Given the description of an element on the screen output the (x, y) to click on. 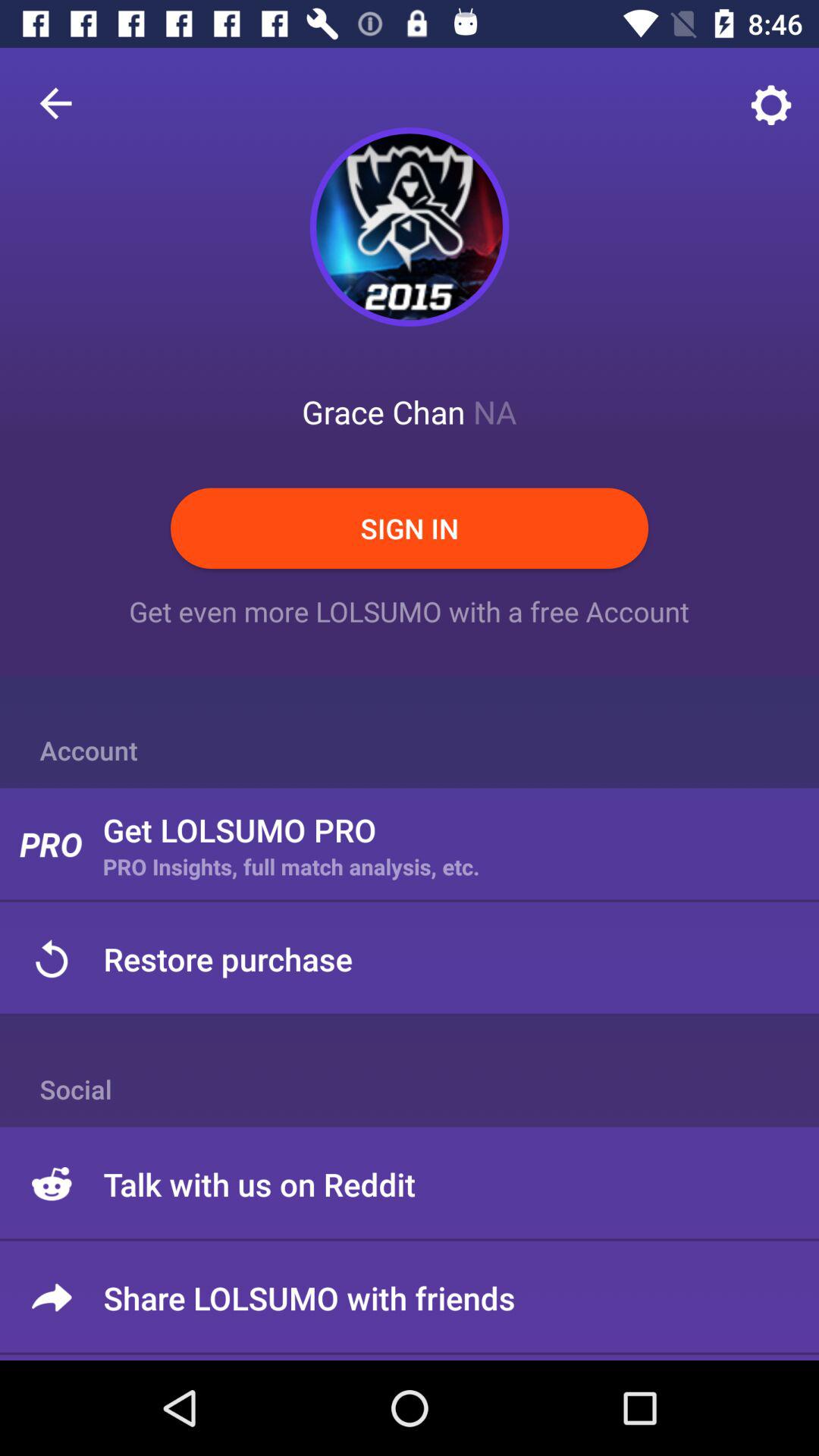
tap item below grace chan icon (409, 527)
